Given the description of an element on the screen output the (x, y) to click on. 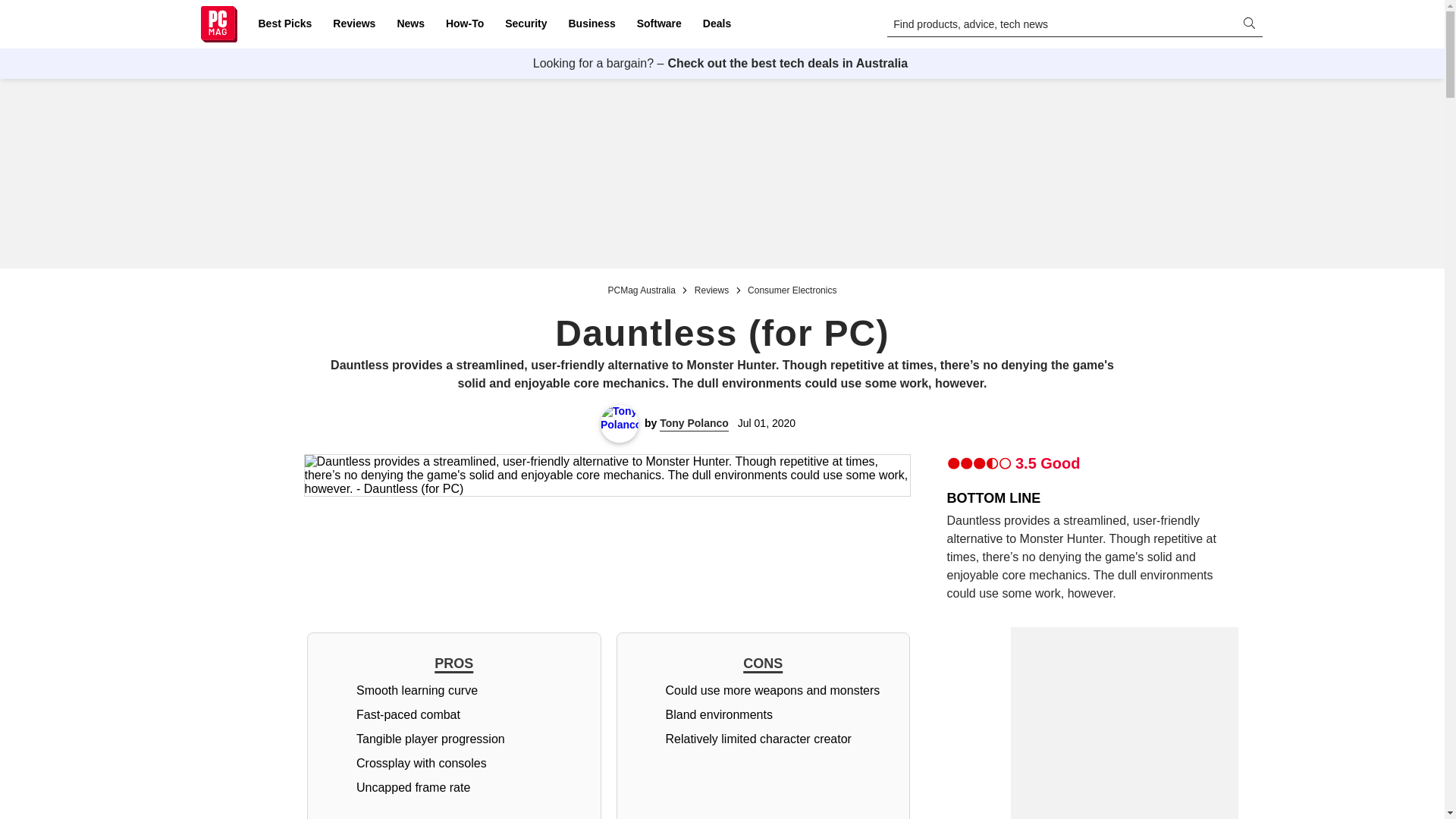
How-To (464, 24)
Business (591, 24)
Reviews (353, 24)
Security (526, 24)
Best Picks (284, 24)
